Given the description of an element on the screen output the (x, y) to click on. 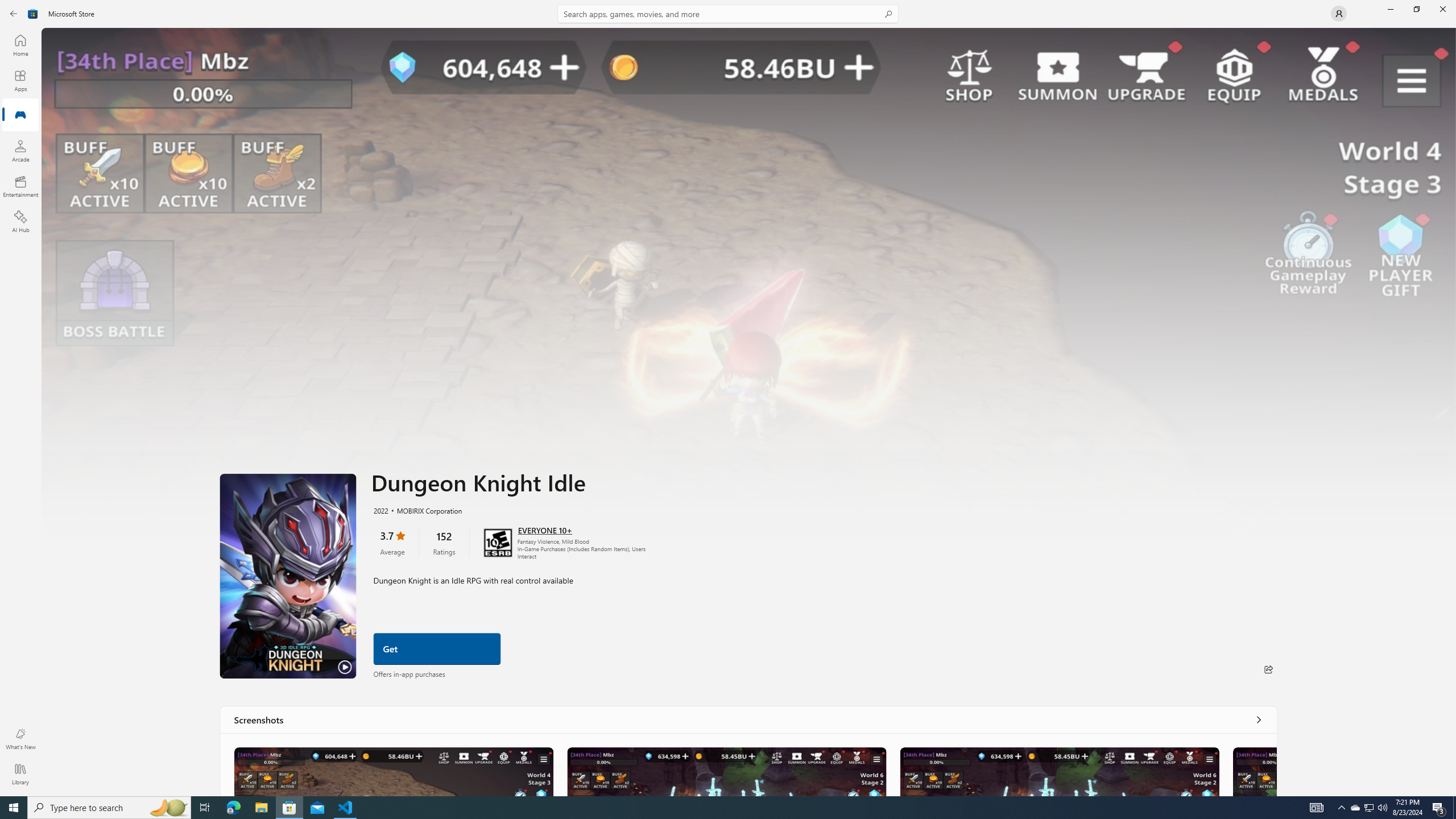
See all (1258, 719)
AutomationID: NavigationControl (728, 398)
Get (436, 649)
Dungeon Knight Idle (393, 771)
Screenshot 2 (725, 771)
Search (727, 13)
Share (1267, 669)
Screenshot 4 (1253, 771)
